Given the description of an element on the screen output the (x, y) to click on. 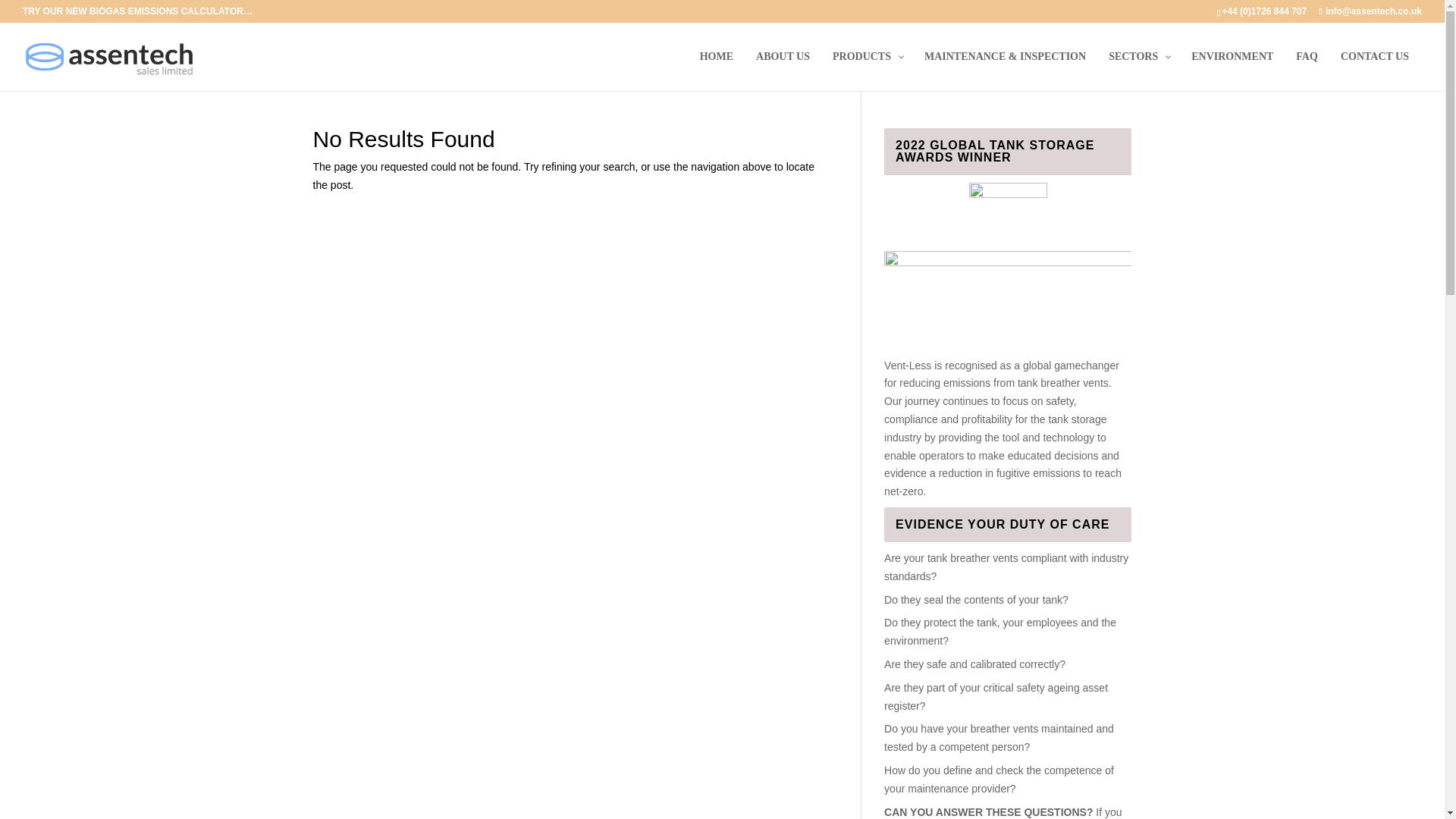
CONTACT US (1375, 70)
FAQ (1306, 70)
HOME (716, 70)
PRODUCTS (866, 70)
SECTORS (1138, 70)
ENVIRONMENT (1231, 70)
ABOUT US (782, 70)
